Given the description of an element on the screen output the (x, y) to click on. 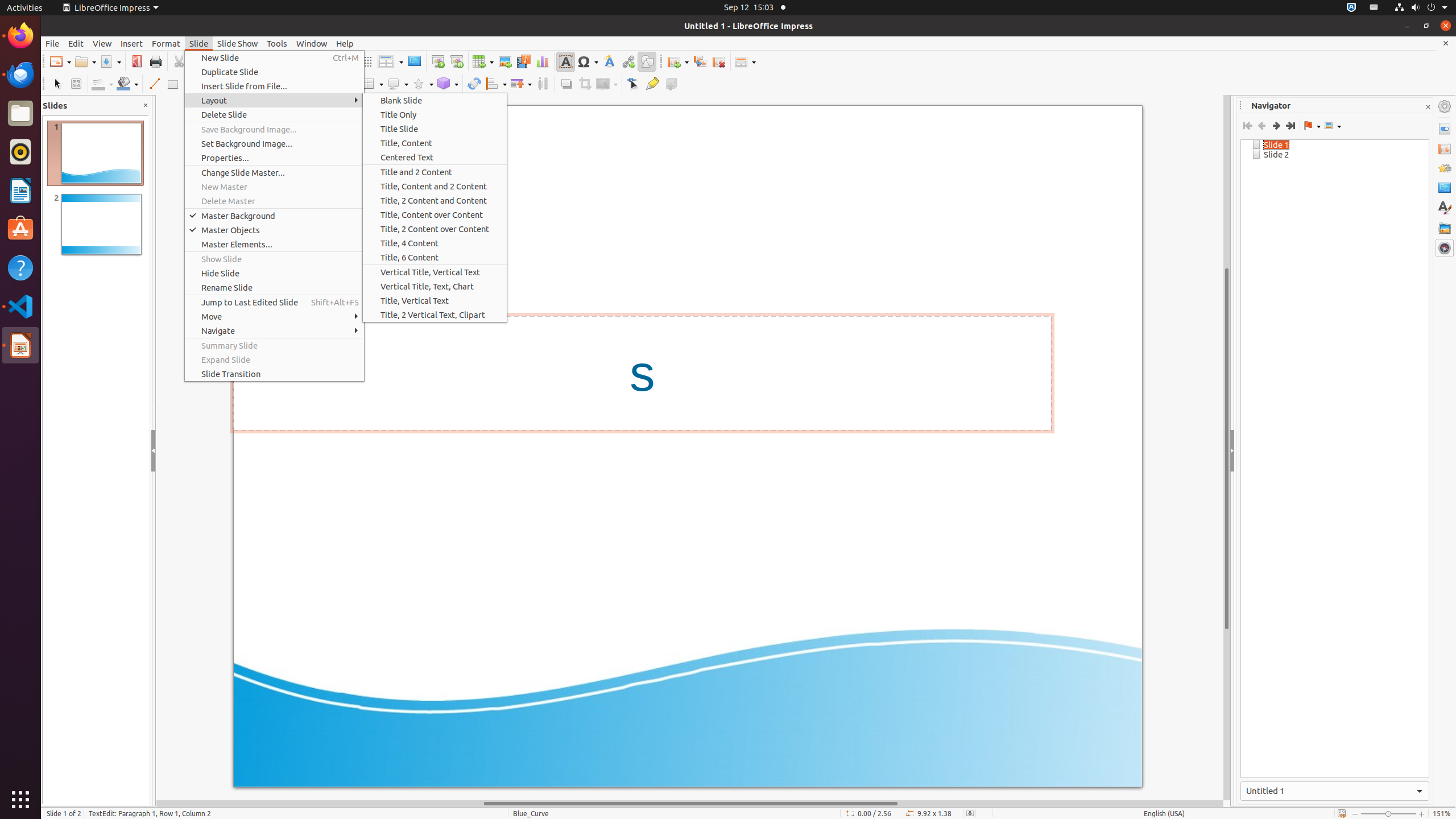
Master Slides Element type: radio-button (1444, 188)
Rhythmbox Element type: push-button (20, 151)
Insert Element type: menu (131, 43)
